Given the description of an element on the screen output the (x, y) to click on. 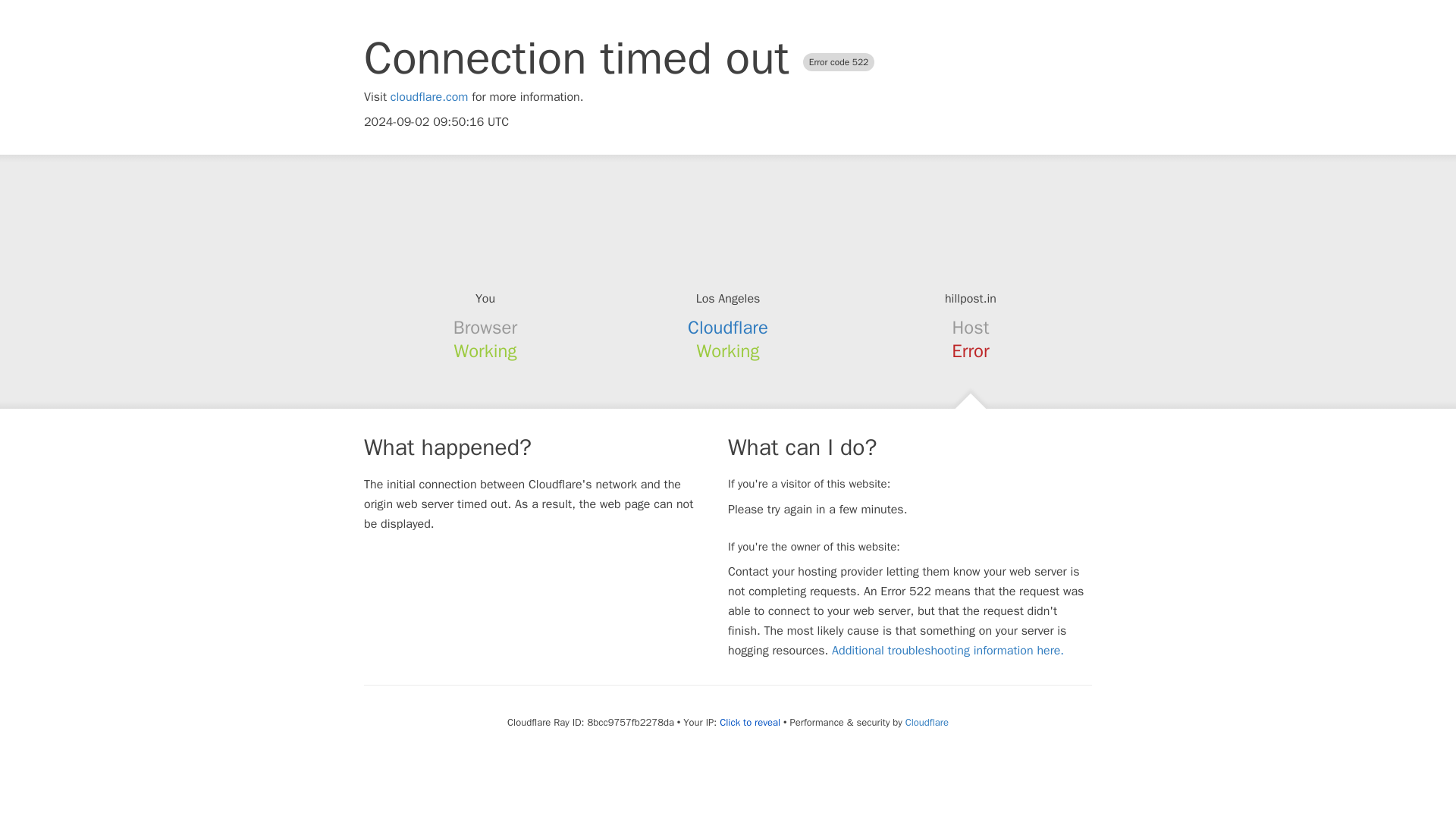
Click to reveal (749, 722)
cloudflare.com (429, 96)
Additional troubleshooting information here. (947, 650)
Cloudflare (727, 327)
Cloudflare (927, 721)
